Given the description of an element on the screen output the (x, y) to click on. 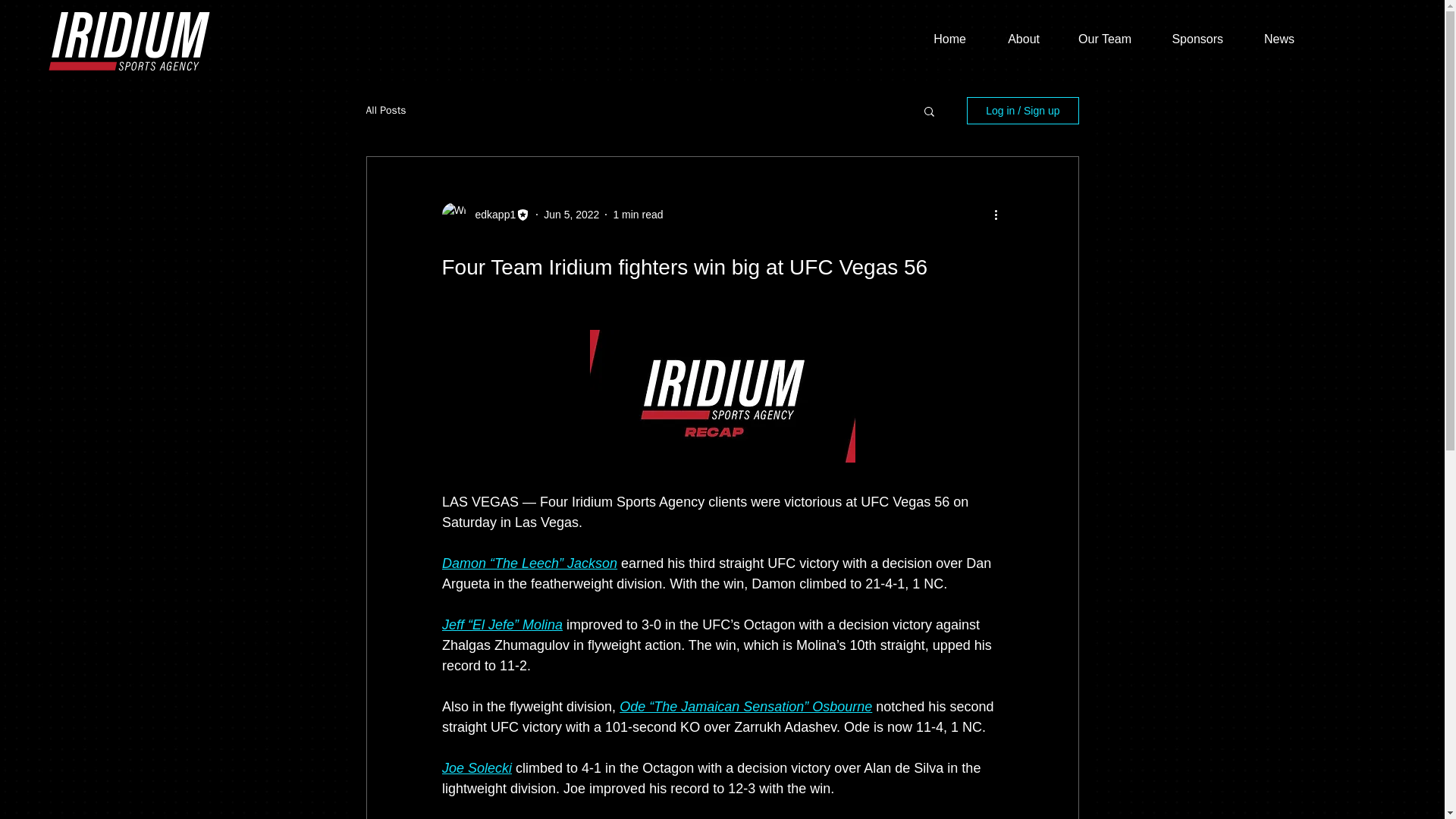
News (1270, 38)
Jun 5, 2022 (570, 214)
edkapp1 (490, 213)
All Posts (385, 110)
1 min read (637, 214)
About (1013, 38)
Home (940, 38)
Sponsors (1188, 38)
Our Team (1096, 38)
Joe Solecki (476, 767)
